Given the description of an element on the screen output the (x, y) to click on. 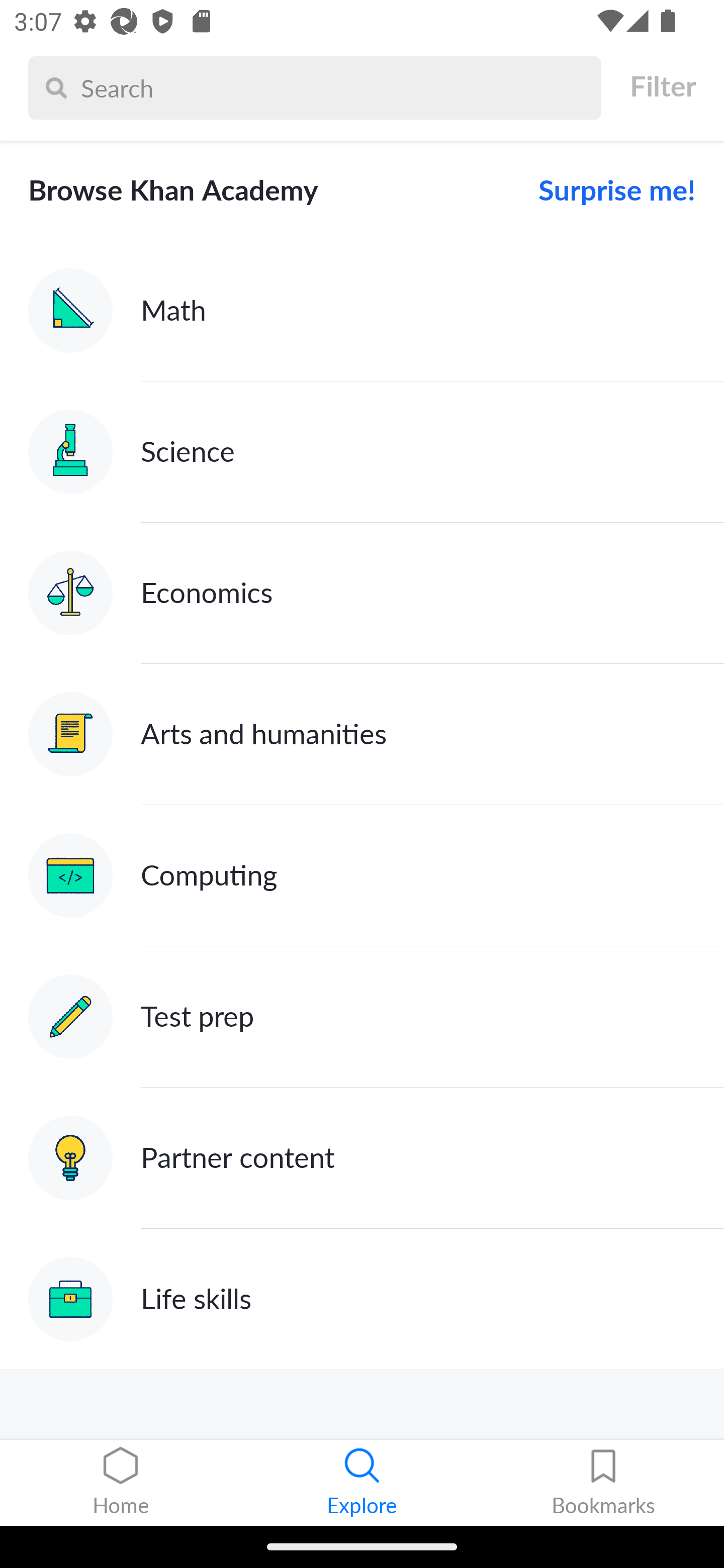
Search Search Search (314, 87)
Search (335, 87)
Filter (662, 85)
Surprise me! (609, 190)
Math (362, 310)
Science (362, 451)
Economics (362, 592)
Arts and humanities (362, 733)
Computing (362, 875)
Test prep (362, 1017)
Partner content (362, 1158)
Life skills (362, 1298)
Home (120, 1482)
Explore (361, 1482)
Bookmarks (603, 1482)
